Given the description of an element on the screen output the (x, y) to click on. 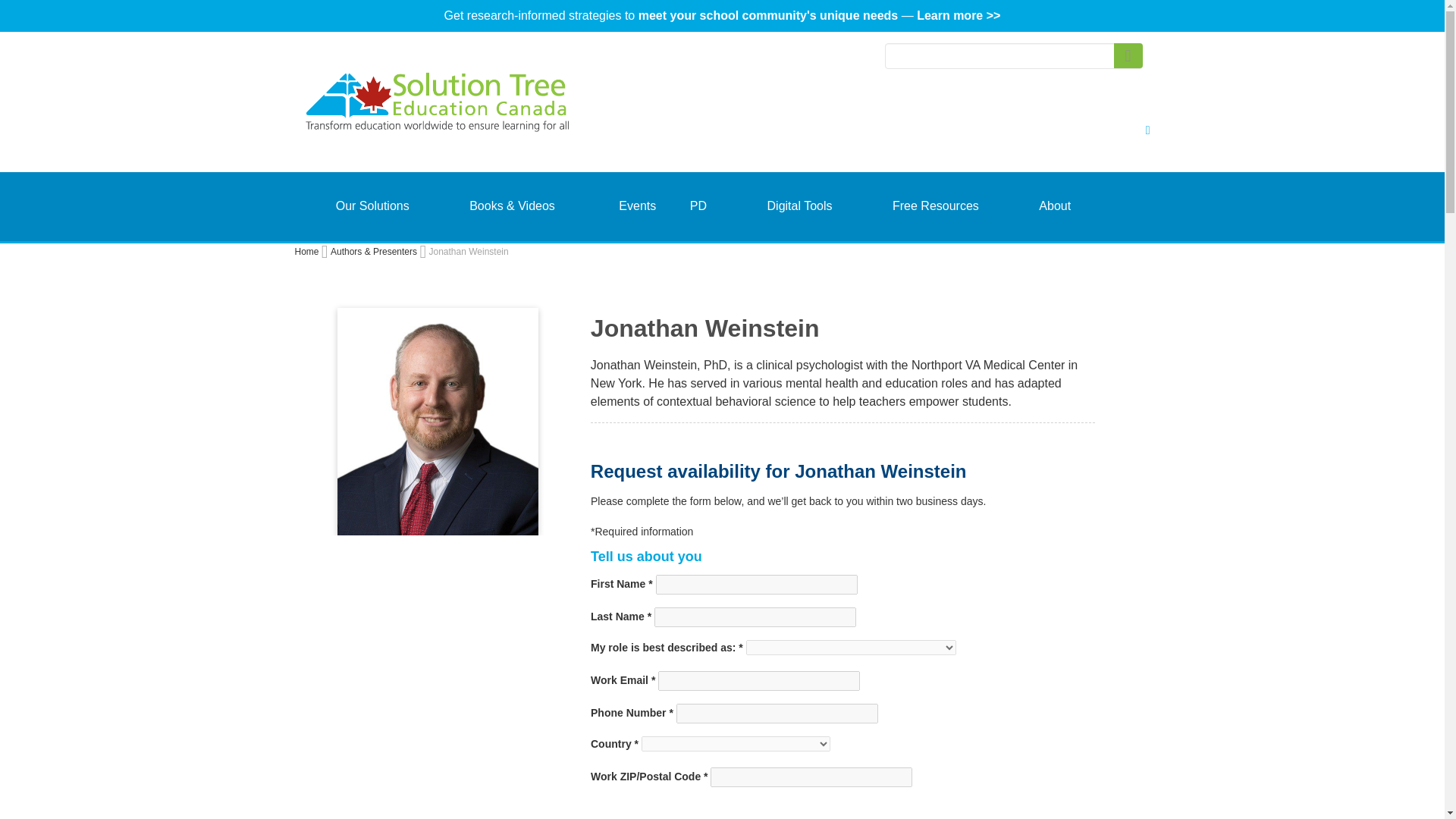
Search (1127, 55)
Go to Home Page (306, 251)
Search (1127, 55)
Our Solutions (372, 205)
